Given the description of an element on the screen output the (x, y) to click on. 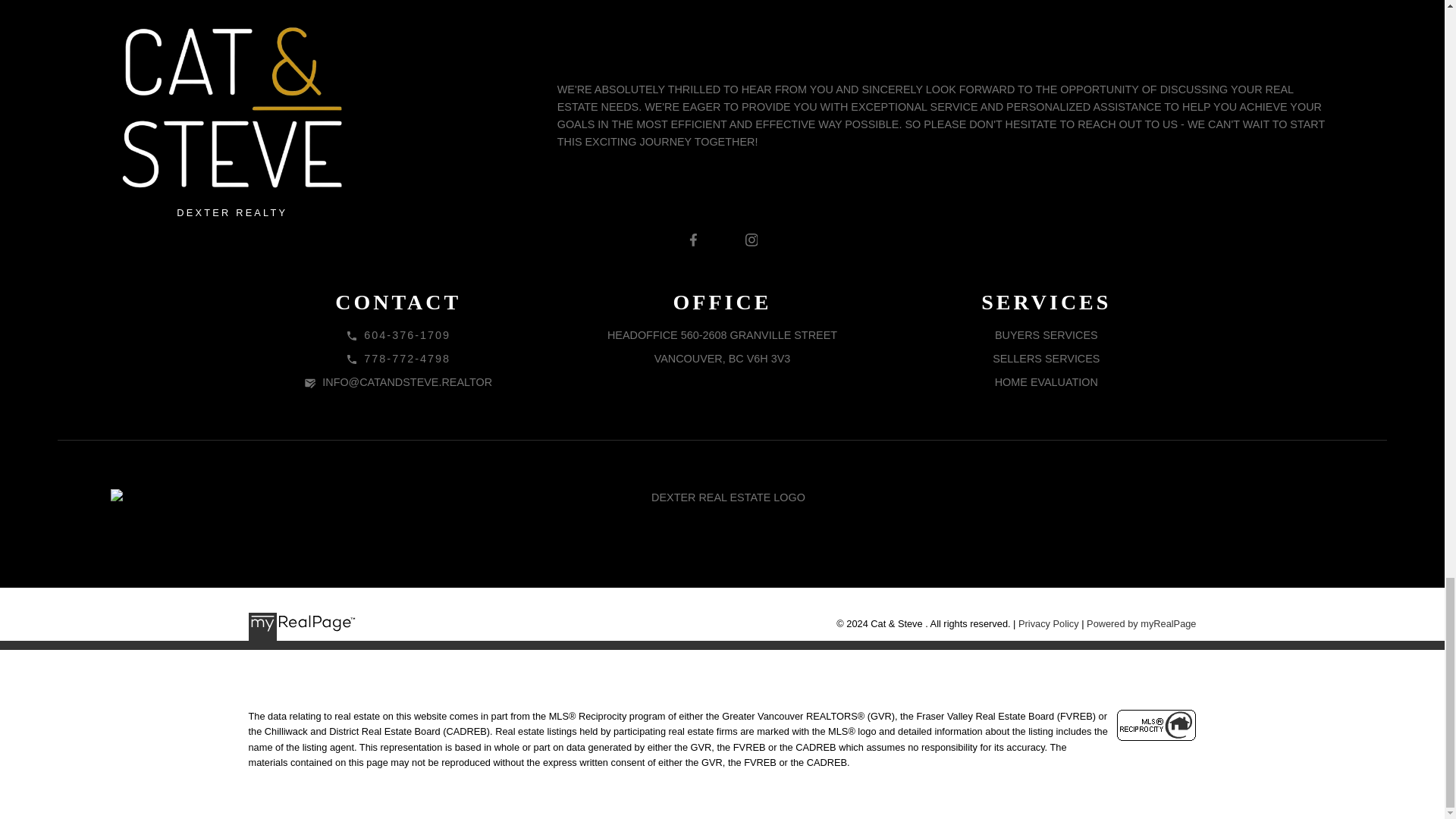
Facebook (692, 239)
Instagram (751, 239)
